Given the description of an element on the screen output the (x, y) to click on. 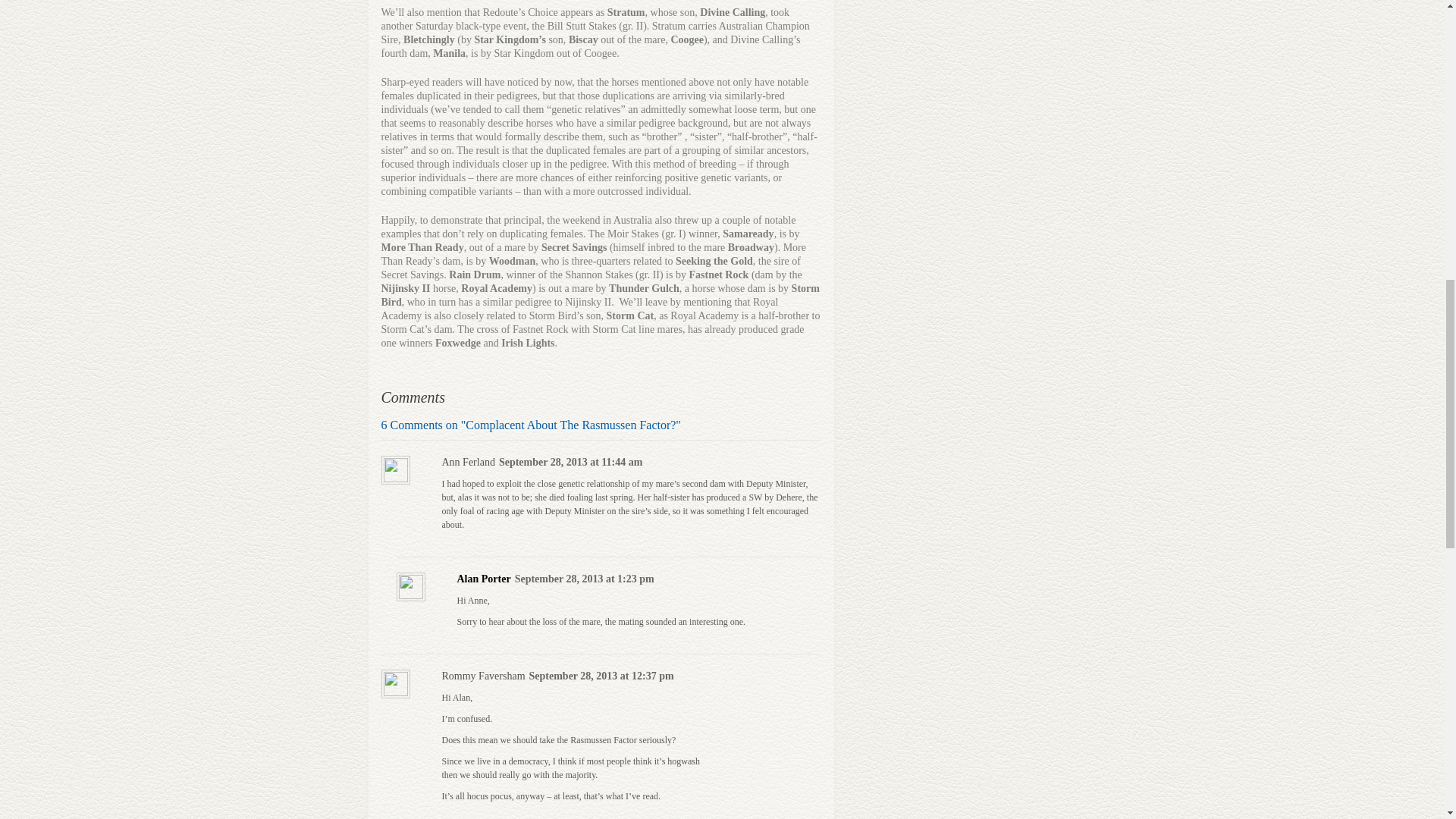
September 28, 2013 at 11:44 am (571, 462)
September 28, 2013 at 1:23 pm (584, 579)
September 28, 2013 at 12:37 pm (601, 676)
Alan Porter (484, 578)
